Given the description of an element on the screen output the (x, y) to click on. 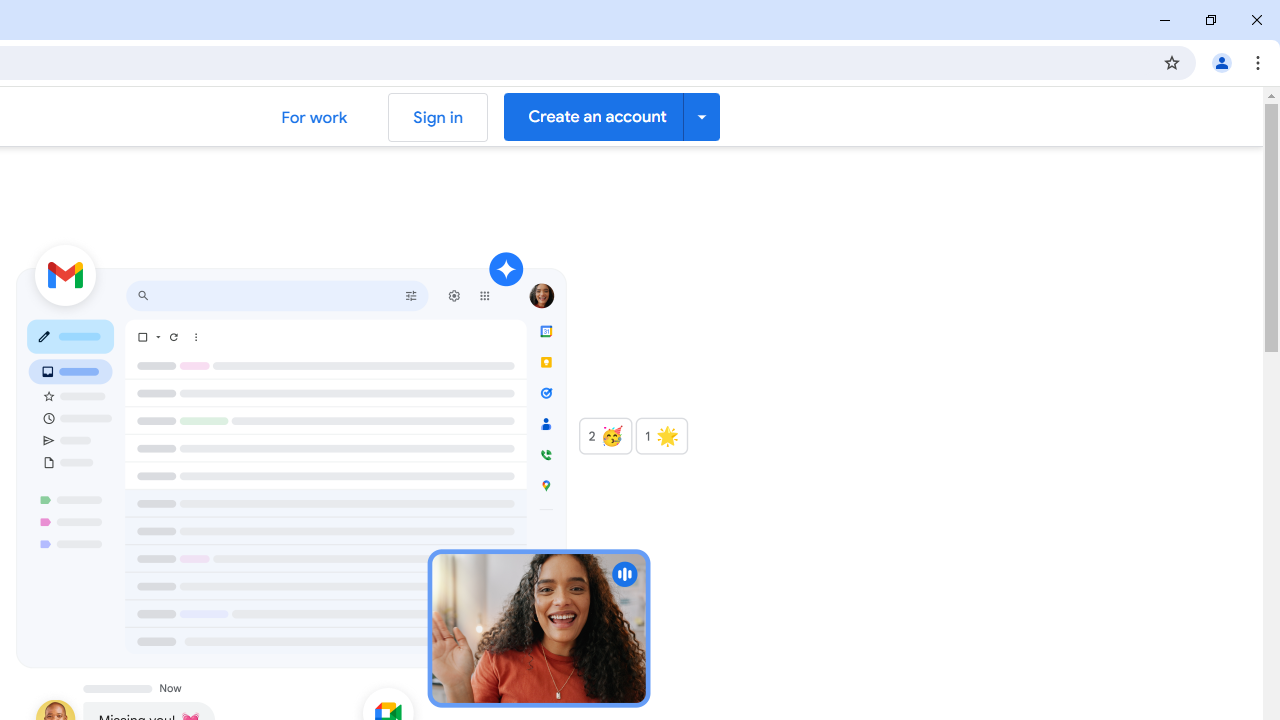
Create an account (611, 116)
For work (314, 116)
